Given the description of an element on the screen output the (x, y) to click on. 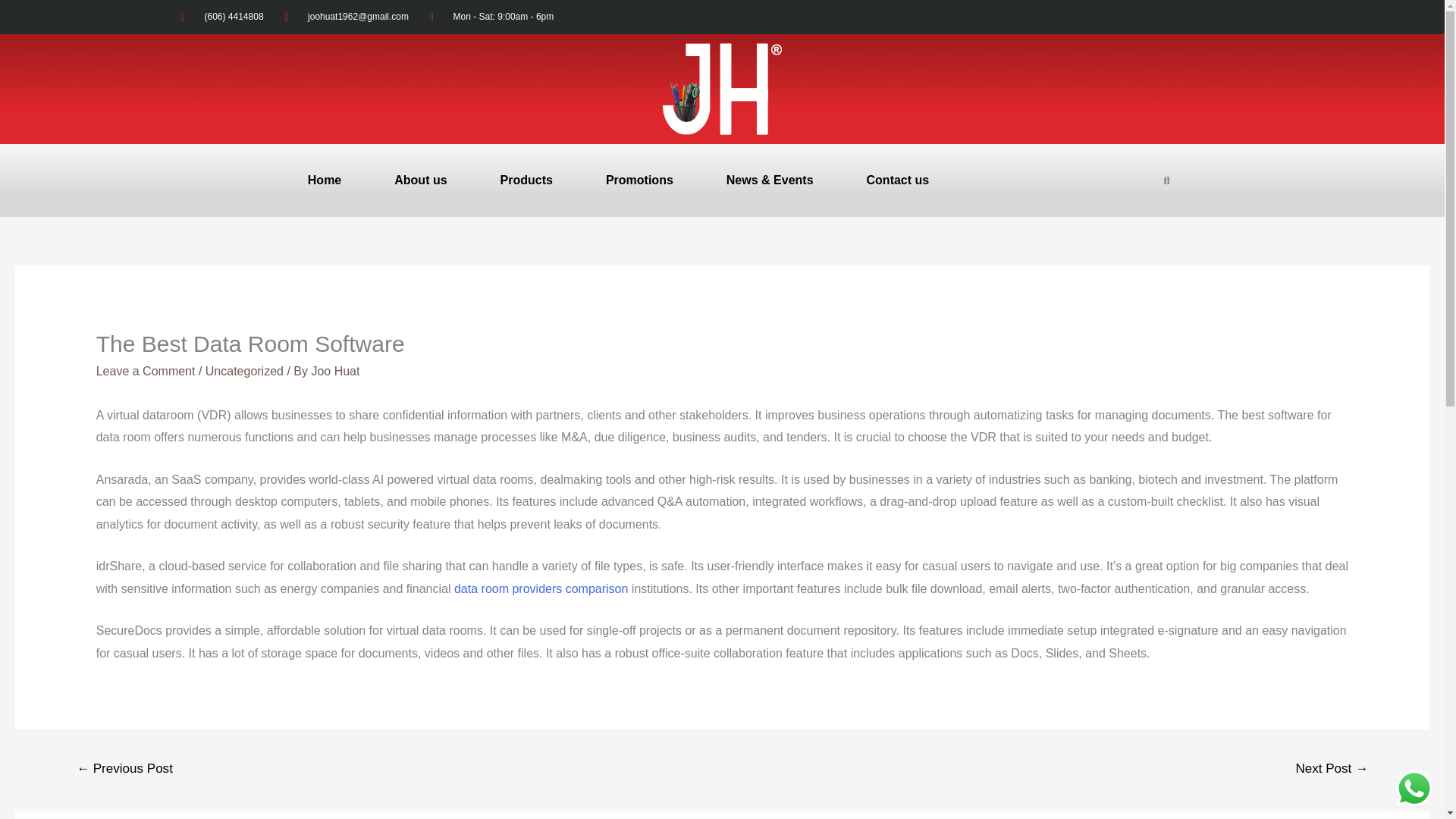
Leave a Comment (145, 370)
Uncategorized (244, 370)
data room providers comparison (540, 588)
View all posts by Joo Huat (335, 370)
Joo Huat (335, 370)
WhatsApp us (1413, 788)
Search (1160, 193)
